Given the description of an element on the screen output the (x, y) to click on. 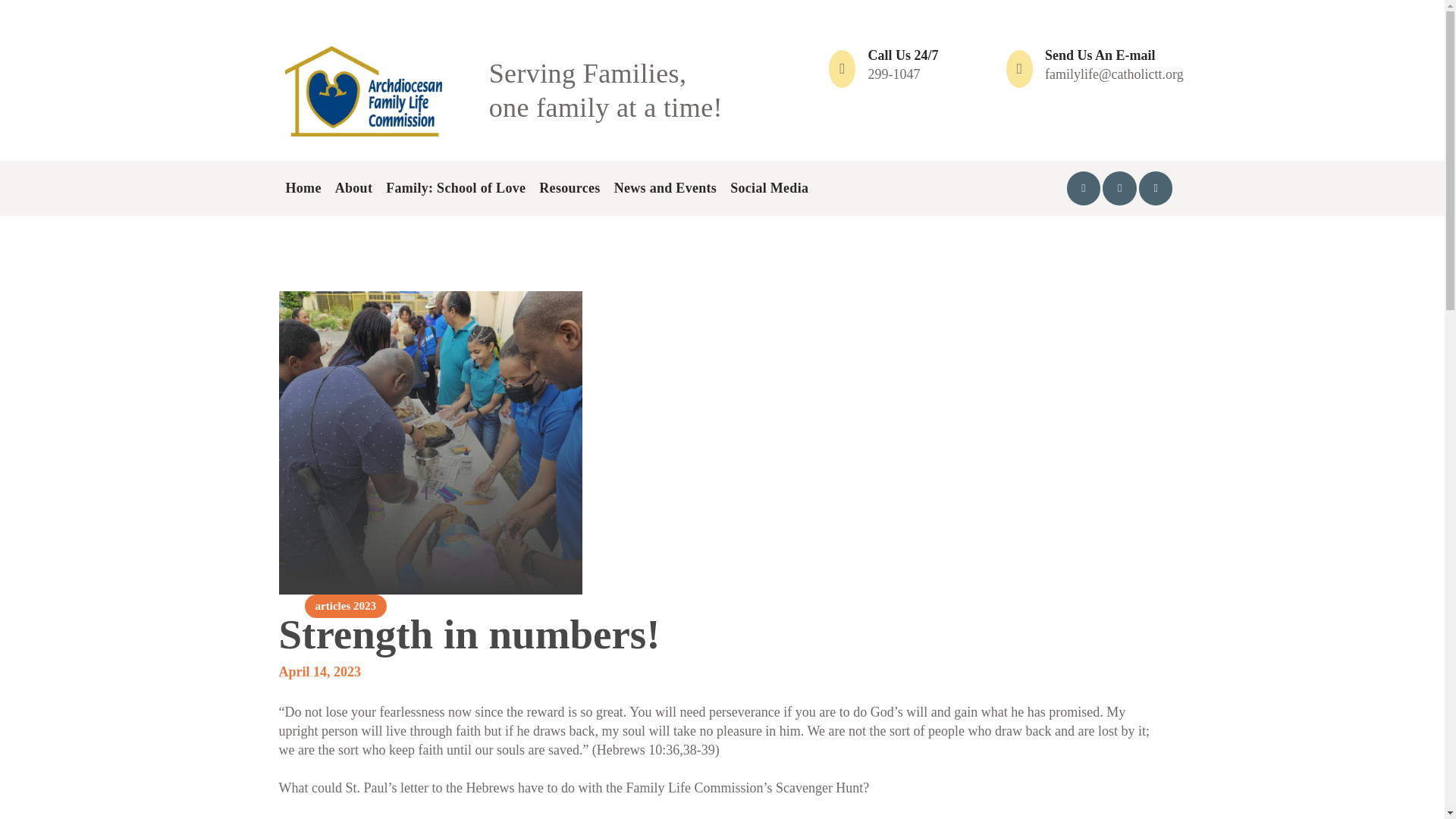
Social Media (769, 188)
Home (304, 188)
News and Events (665, 188)
Family: School of Love (455, 188)
About (354, 188)
Resources (500, 88)
